Given the description of an element on the screen output the (x, y) to click on. 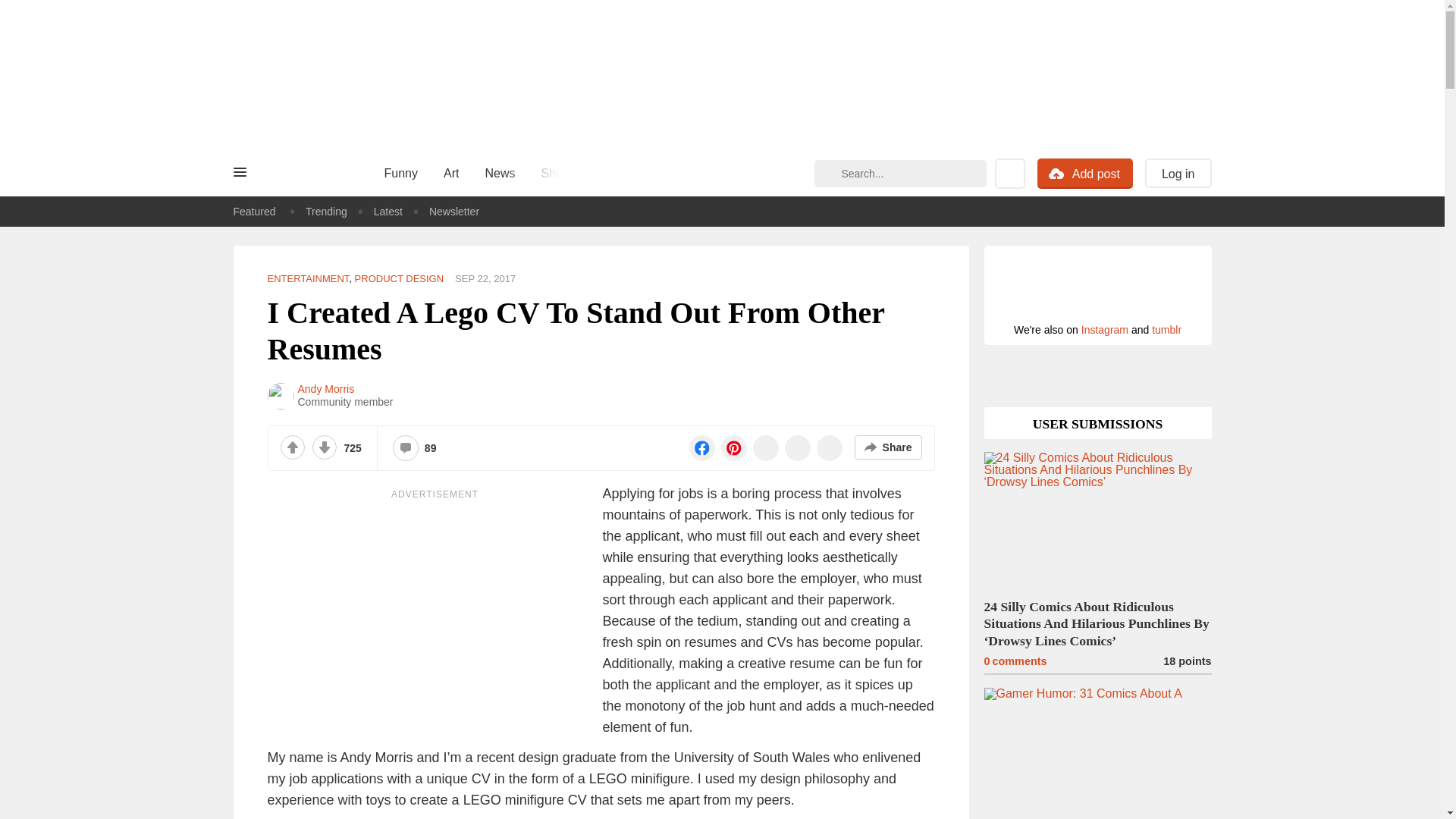
Posts by Andy Morris (325, 389)
Add post form top (1056, 173)
Share this article (887, 446)
Open list comments (405, 448)
